Given the description of an element on the screen output the (x, y) to click on. 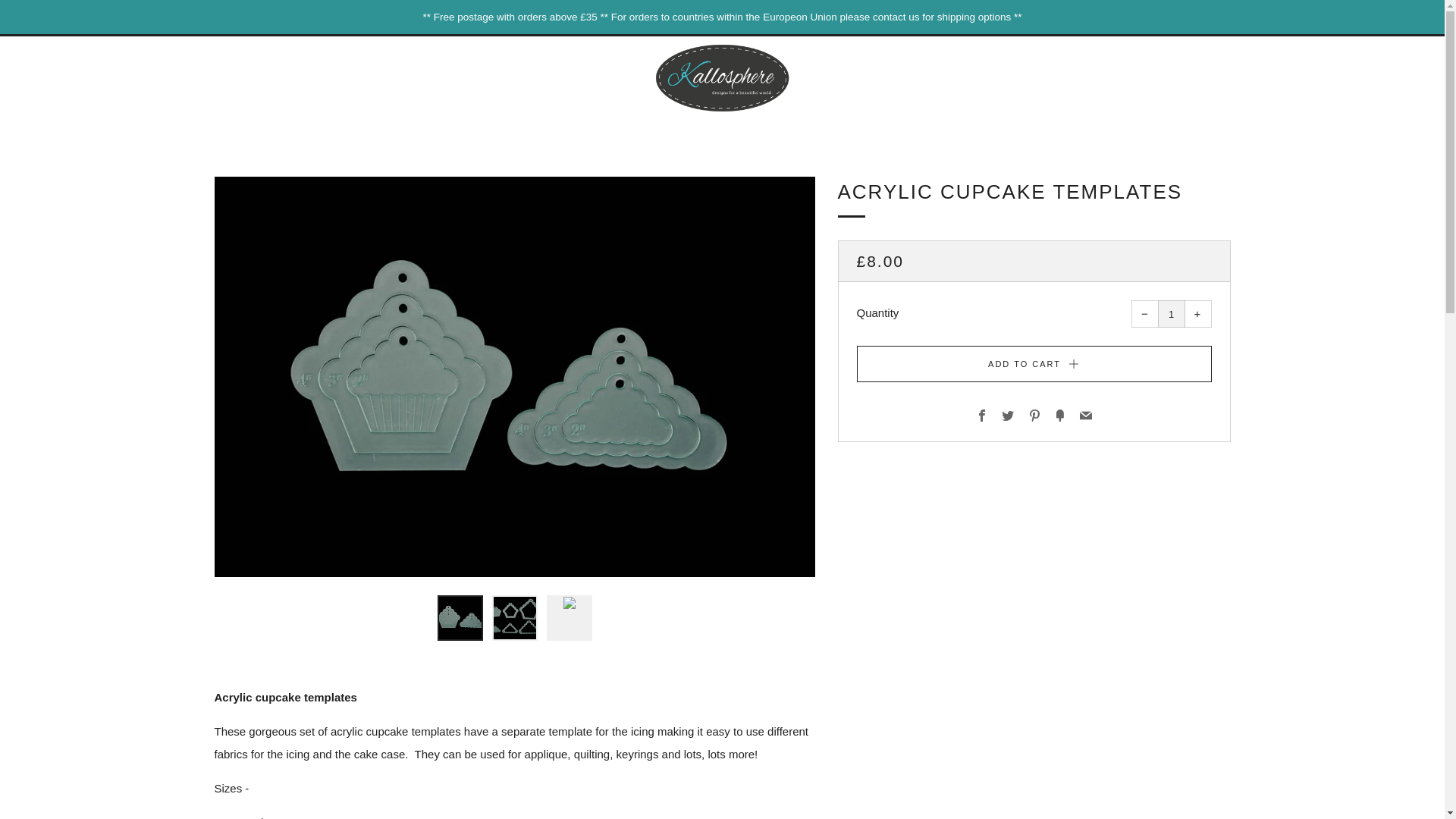
SHOP (488, 131)
1 (1171, 313)
HOME (434, 131)
